Given the description of an element on the screen output the (x, y) to click on. 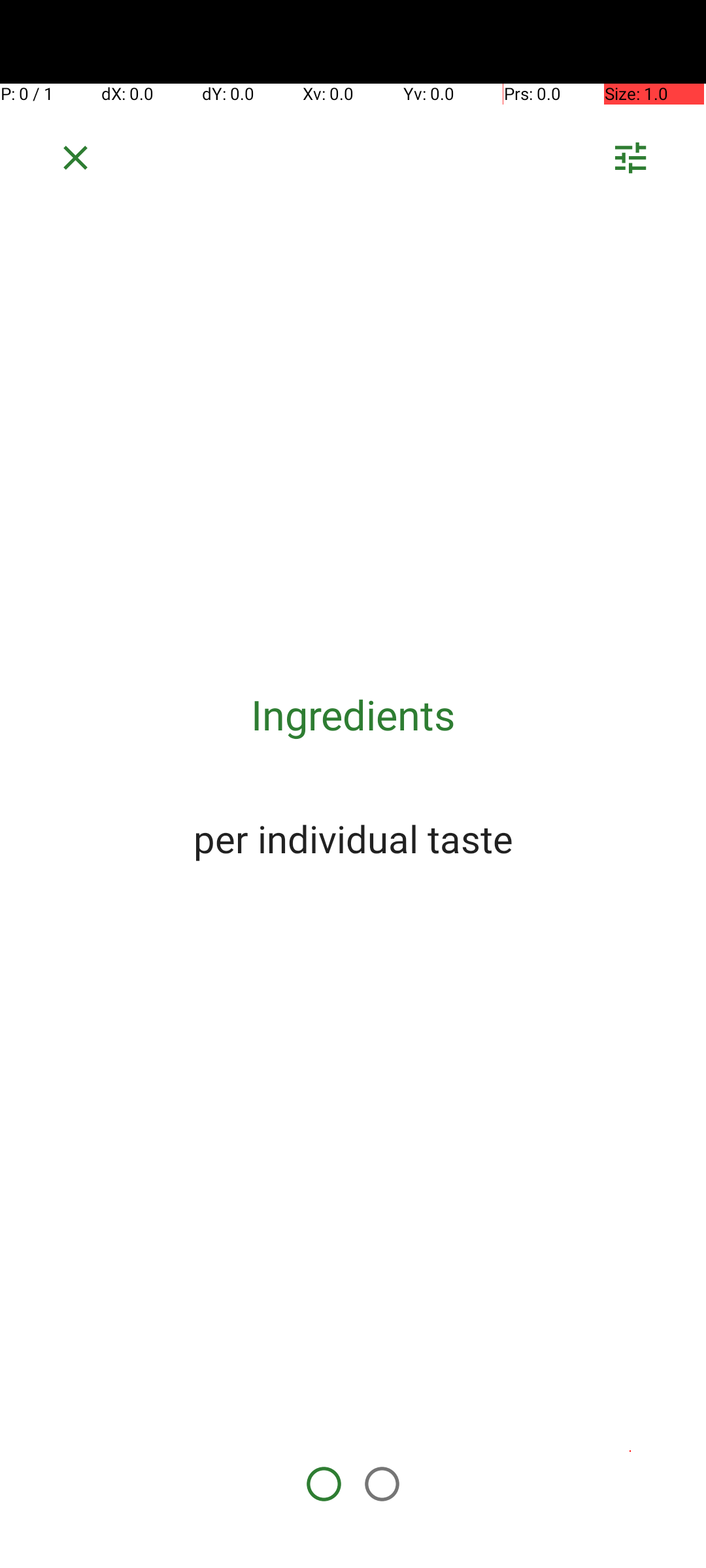
per individual taste Element type: android.widget.TextView (353, 838)
